Given the description of an element on the screen output the (x, y) to click on. 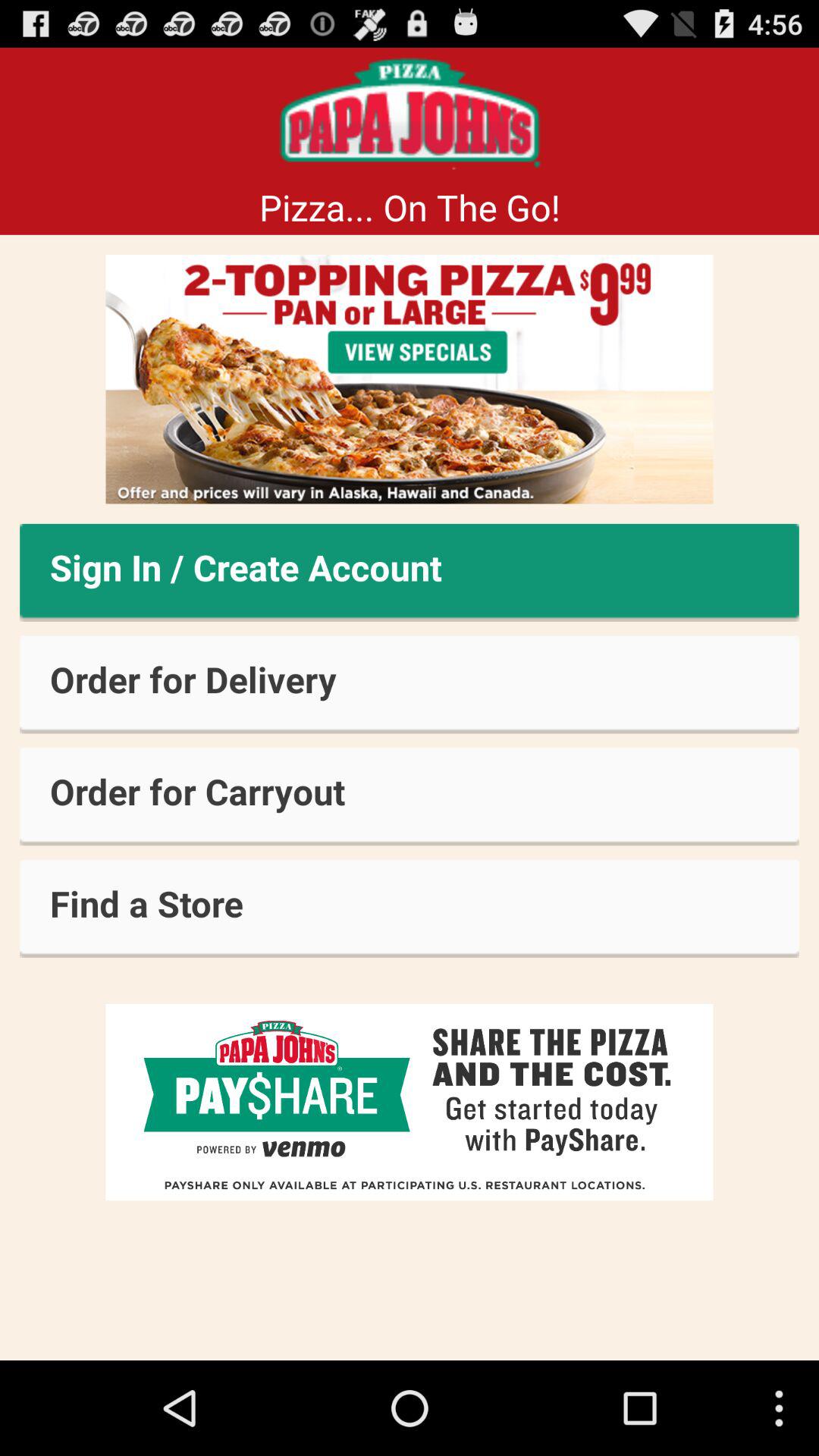
click icon above the order for delivery item (409, 572)
